Given the description of an element on the screen output the (x, y) to click on. 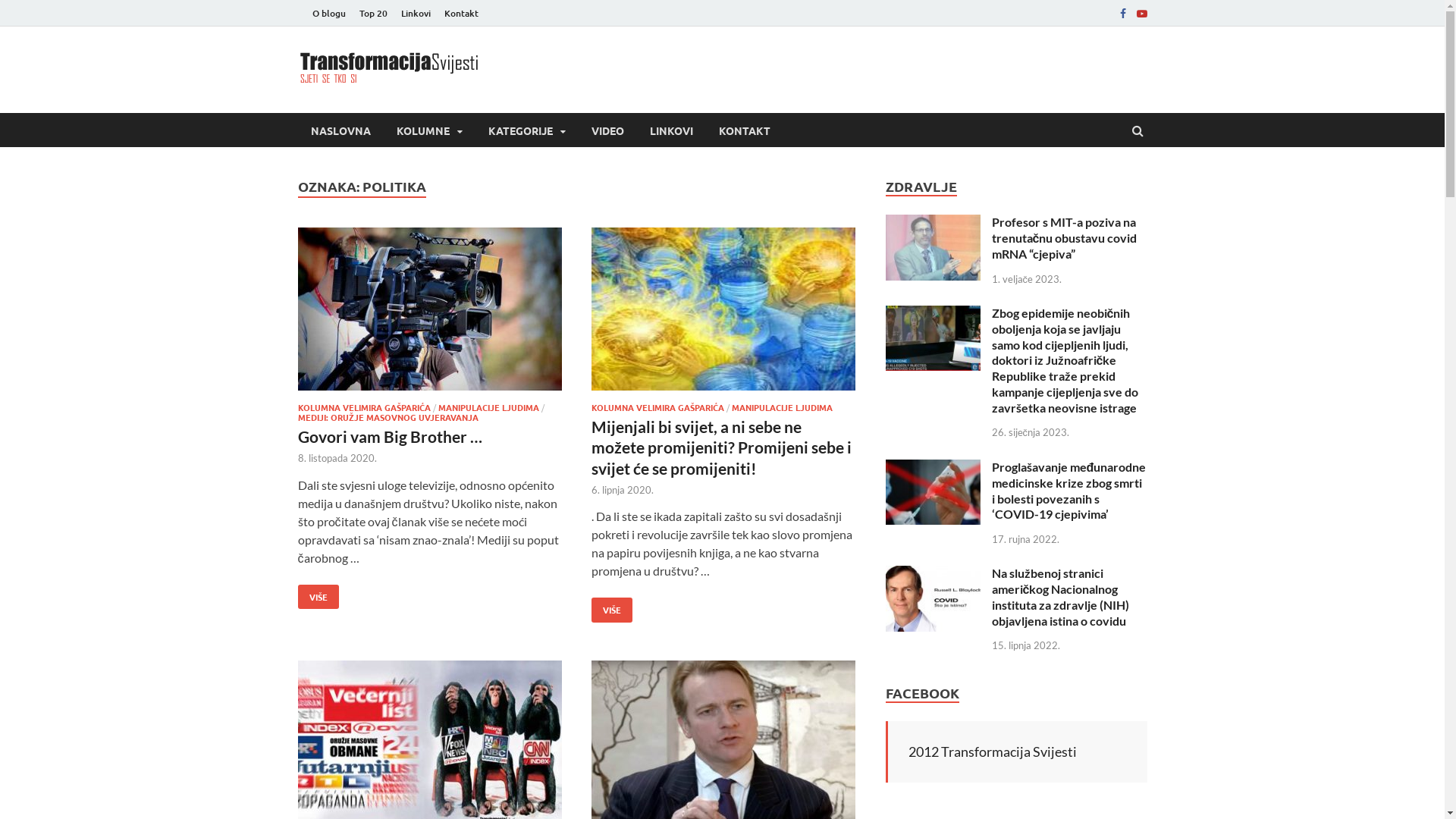
8. listopada 2020. Element type: text (336, 457)
Transformacija Svijesti Element type: text (650, 79)
Linkovi Element type: text (415, 13)
Top 20 Element type: text (372, 13)
KATEGORIJE Element type: text (525, 129)
LINKOVI Element type: text (671, 129)
VIDEO Element type: text (606, 129)
6. lipnja 2020. Element type: text (622, 489)
MANIPULACIJE LJUDIMA Element type: text (488, 407)
MANIPULACIJE LJUDIMA Element type: text (781, 407)
KOLUMNE Element type: text (429, 129)
O blogu Element type: text (327, 13)
Kontakt Element type: text (460, 13)
2012 Transformacija Svijesti Element type: text (992, 751)
KONTAKT Element type: text (743, 129)
NASLOVNA Element type: text (339, 129)
